Given the description of an element on the screen output the (x, y) to click on. 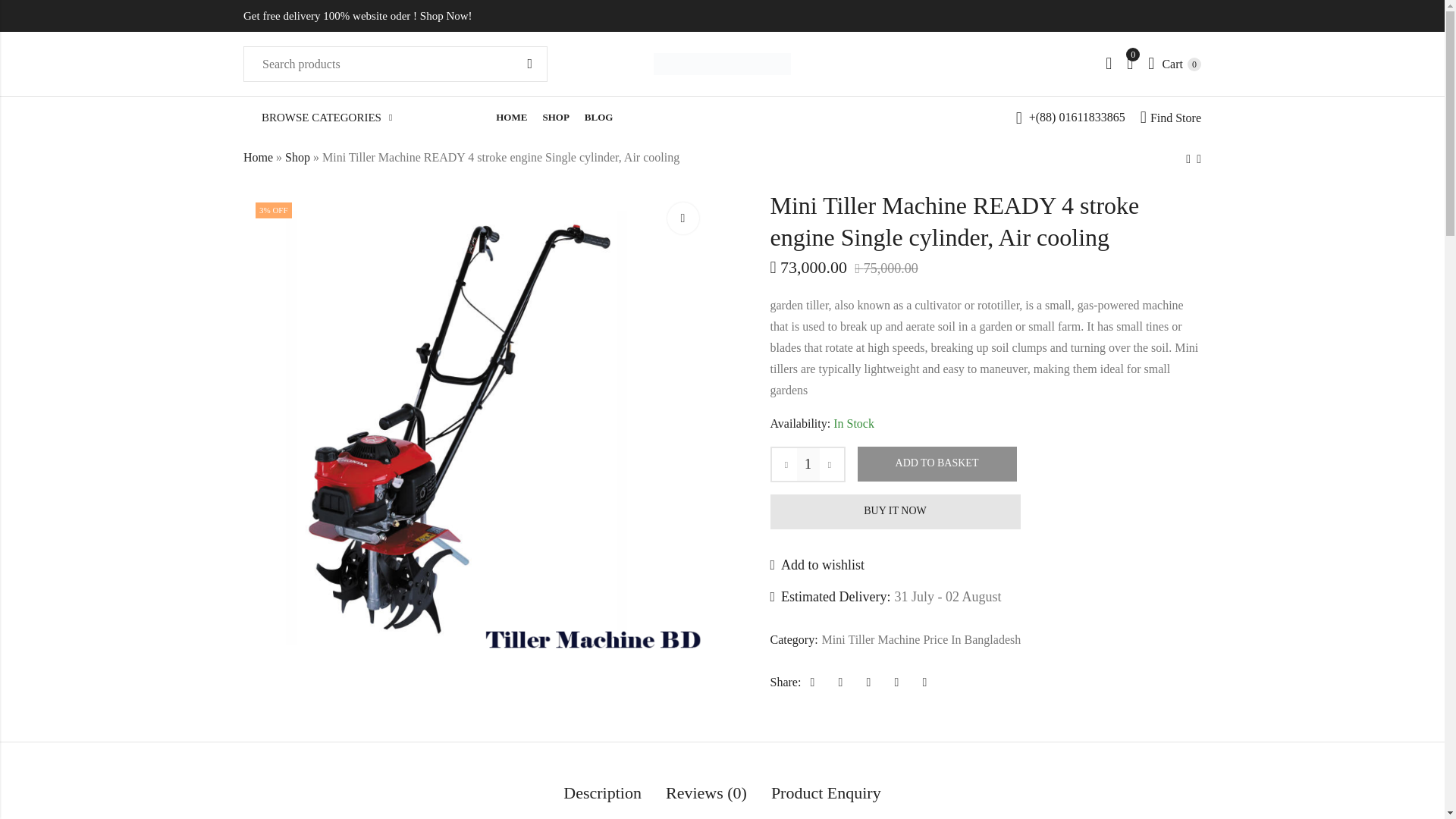
Search (1174, 63)
SHOP (529, 63)
Description (555, 118)
Tiller Machine Mini (602, 793)
Mini Tiller Machine Price In Bangladesh (258, 155)
ADD TO BASKET (922, 639)
Add to wishlist (936, 463)
HOME (817, 565)
Lightbox (510, 118)
BLOG (682, 218)
Shop (598, 118)
Find Store (297, 155)
BUY IT NOW (1170, 118)
